Given the description of an element on the screen output the (x, y) to click on. 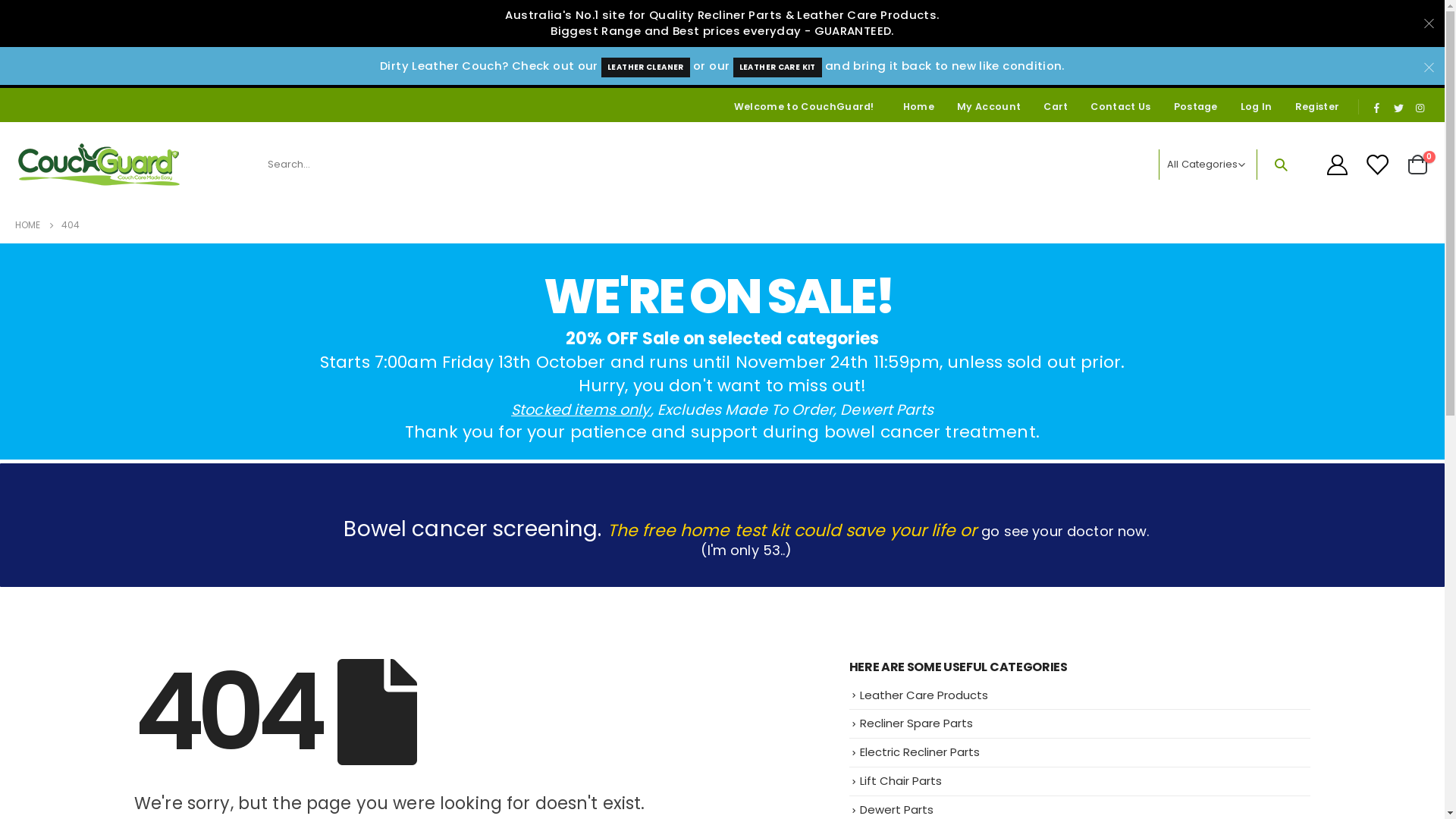
Cart Element type: text (1055, 106)
Register Element type: text (1317, 106)
Home Element type: text (918, 106)
Wishlist Element type: hover (1378, 164)
Search Element type: hover (1280, 164)
Lift Chair Parts Element type: text (900, 780)
Leather Care Products Element type: text (923, 694)
Instagram Element type: hover (1419, 107)
LEATHER CLEANER Element type: text (645, 67)
Twitter Element type: hover (1398, 107)
Log In Element type: text (1256, 106)
My Account Element type: text (988, 106)
HOME Element type: text (27, 225)
Facebook Element type: hover (1376, 107)
CouchGuard - CouchGuard Online Store Element type: hover (98, 164)
Electric Recliner Parts Element type: text (919, 751)
Dewert Parts Element type: text (896, 809)
Postage Element type: text (1195, 106)
Contact Us Element type: text (1120, 106)
LEATHER CARE KIT Element type: text (777, 67)
My Account Element type: hover (1336, 164)
Recliner Spare Parts Element type: text (915, 723)
